Given the description of an element on the screen output the (x, y) to click on. 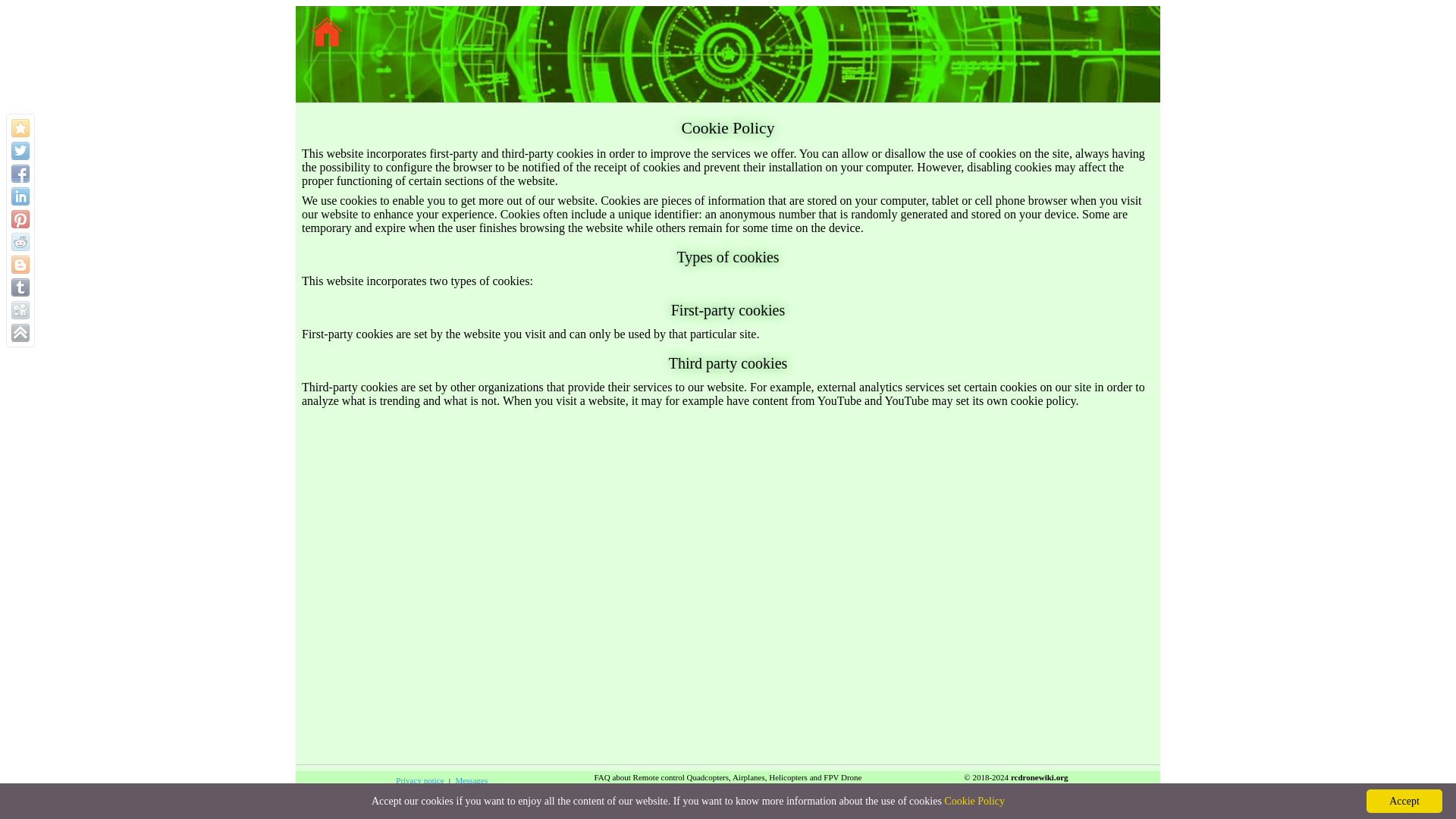
Privacy notice (419, 780)
Messages (471, 780)
